Given the description of an element on the screen output the (x, y) to click on. 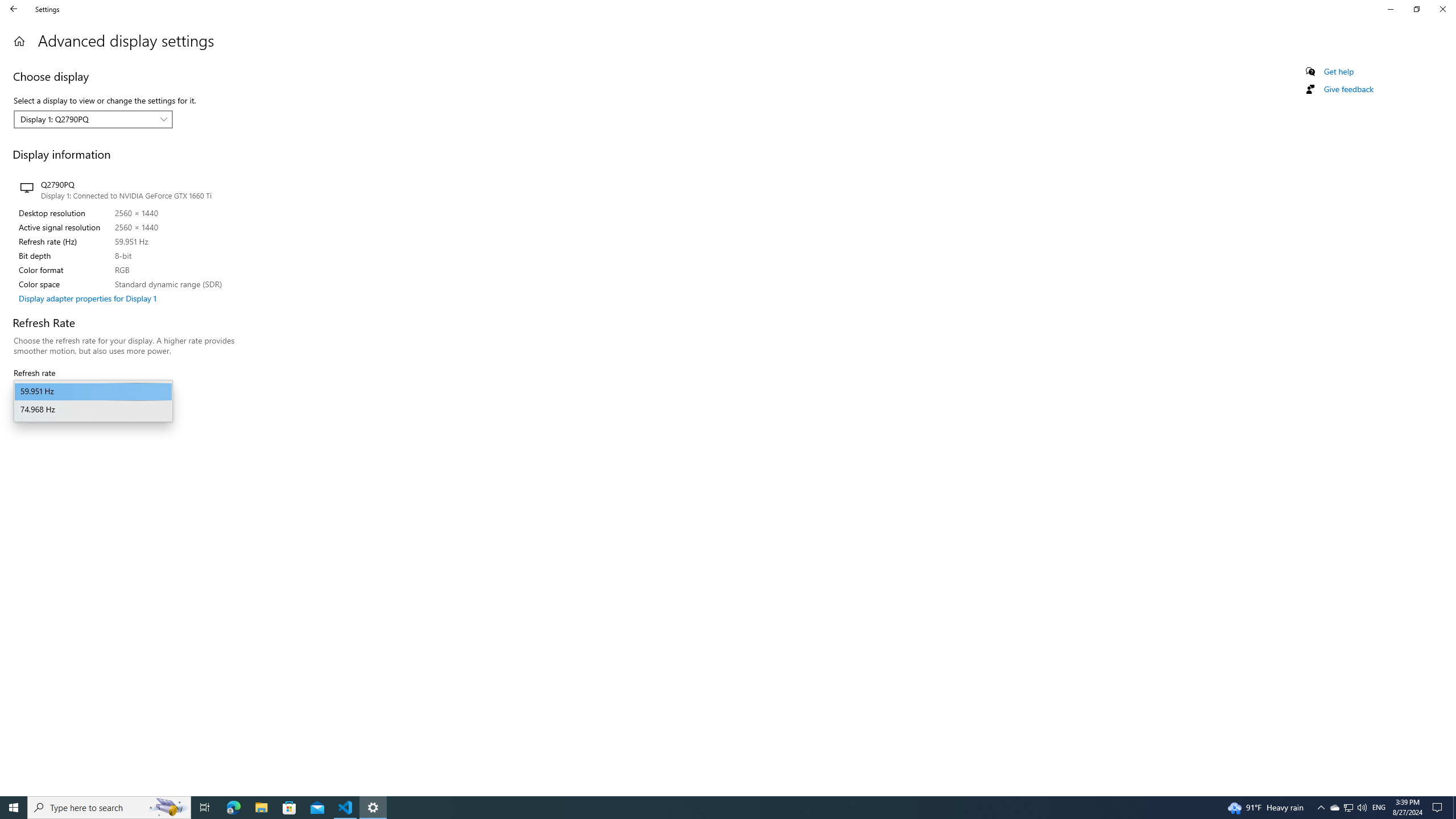
Visual Studio Code - 1 running window (345, 807)
Tray Input Indicator - English (United States) (1378, 807)
74.968 Hz (92, 410)
Running applications (1333, 807)
Get help (706, 807)
Type here to search (1338, 71)
Select a display to view or change the settings for it. (108, 807)
Give feedback (93, 119)
Search highlights icon opens search home window (1348, 88)
Notification Chevron (167, 807)
Task View (1320, 807)
Display 1: Q2790PQ (204, 807)
